Given the description of an element on the screen output the (x, y) to click on. 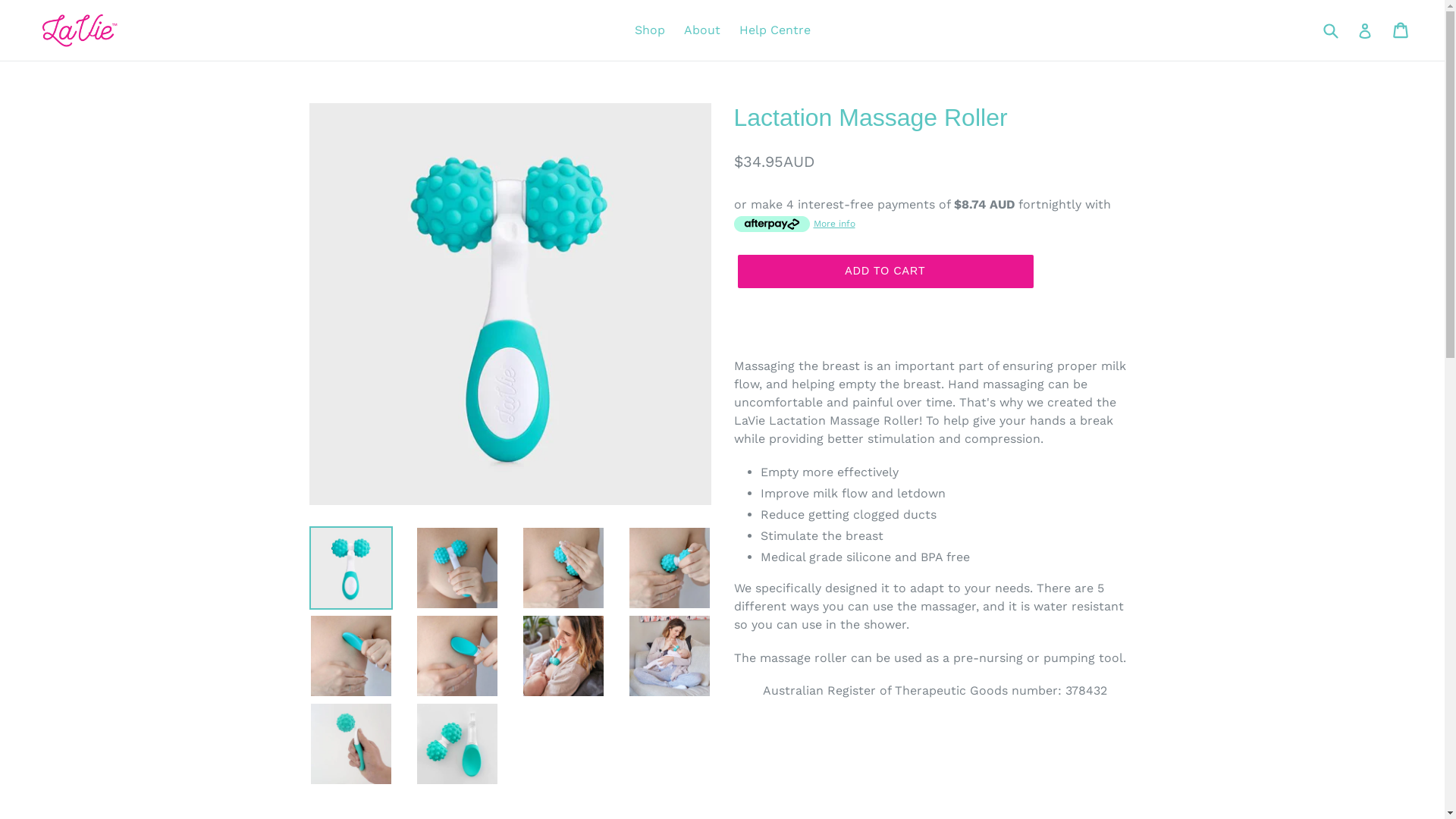
Cart Element type: text (1401, 29)
ADD TO CART Element type: text (884, 271)
Shop Element type: text (648, 29)
Log in Element type: text (1364, 30)
Submit Element type: text (1329, 29)
More info Element type: text (794, 222)
About Element type: text (702, 29)
Help Centre Element type: text (774, 29)
